Given the description of an element on the screen output the (x, y) to click on. 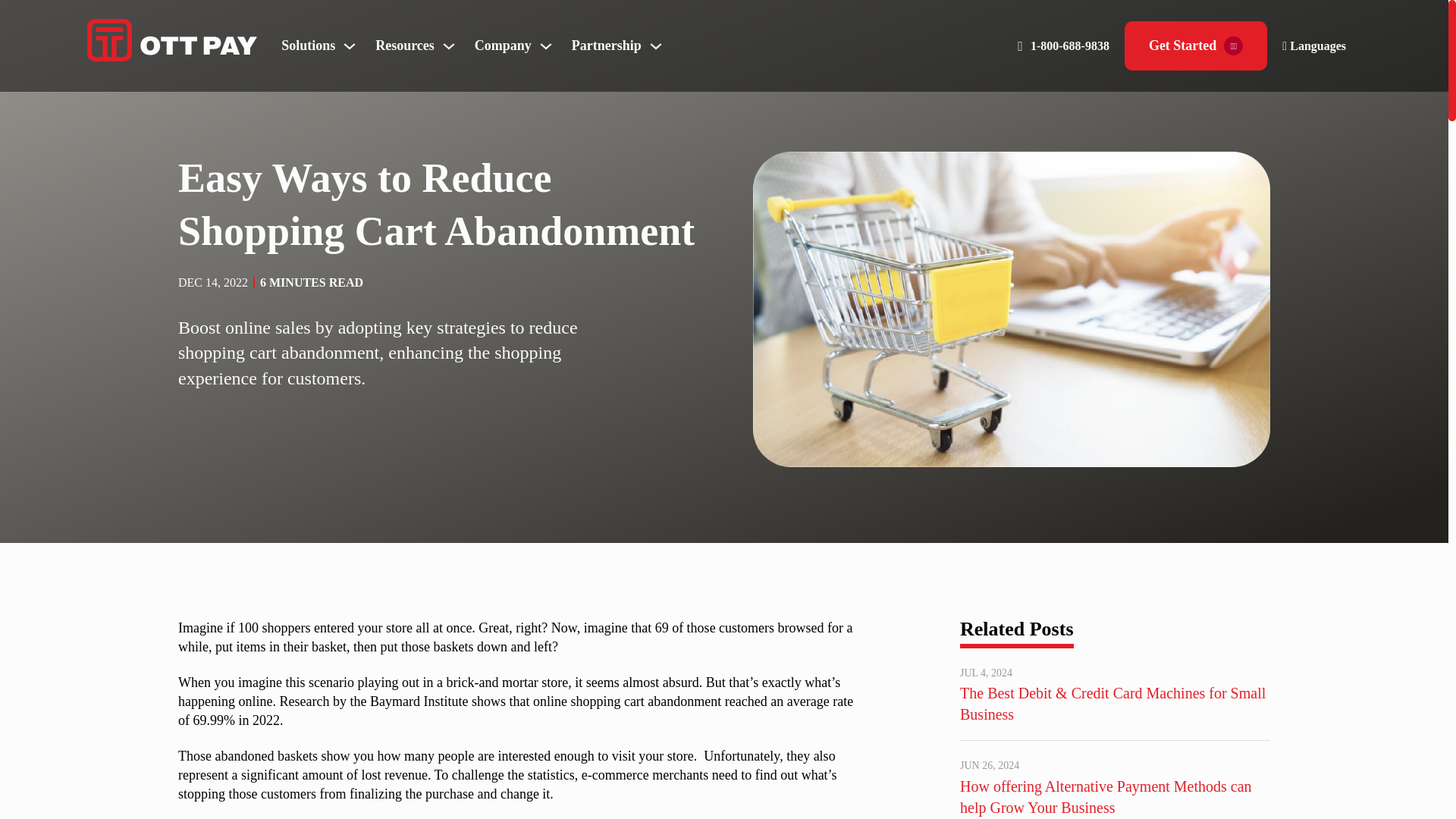
Resources (404, 45)
Solutions (307, 45)
Partnership (607, 45)
Get Started (1195, 45)
Company (502, 45)
tel:18006889838 (1069, 45)
1-800-688-9838 (1069, 45)
